Given the description of an element on the screen output the (x, y) to click on. 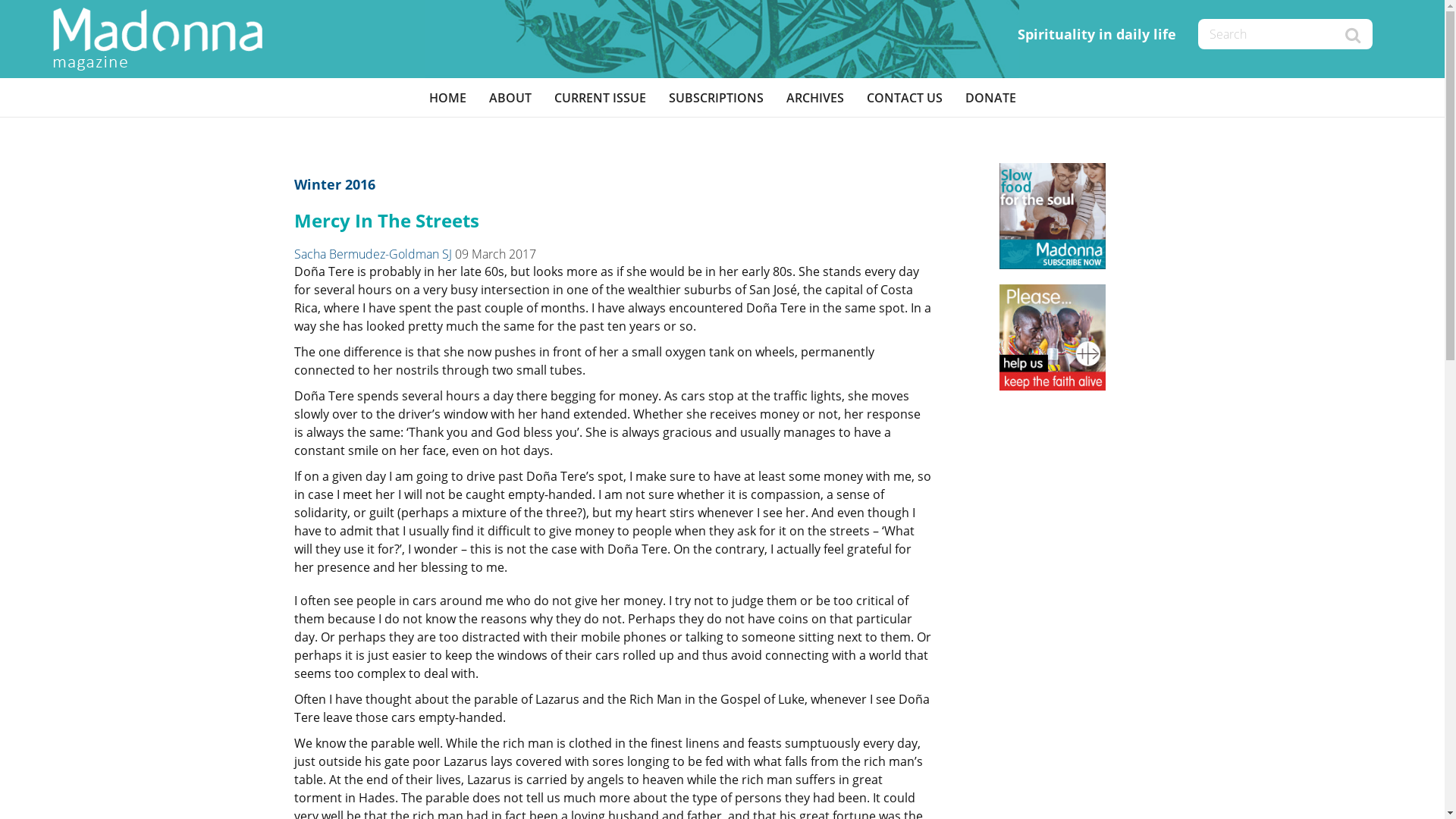
SUBSCRIPTIONS Element type: text (715, 97)
CURRENT ISSUE Element type: text (599, 97)
HOME Element type: text (446, 97)
ARCHIVES Element type: text (815, 97)
Sacha Bermudez-Goldman SJ Element type: text (372, 253)
ABOUT Element type: text (509, 97)
DONATE Element type: text (990, 97)
Winter 2016 Element type: text (334, 184)
CONTACT US Element type: text (904, 97)
